Given the description of an element on the screen output the (x, y) to click on. 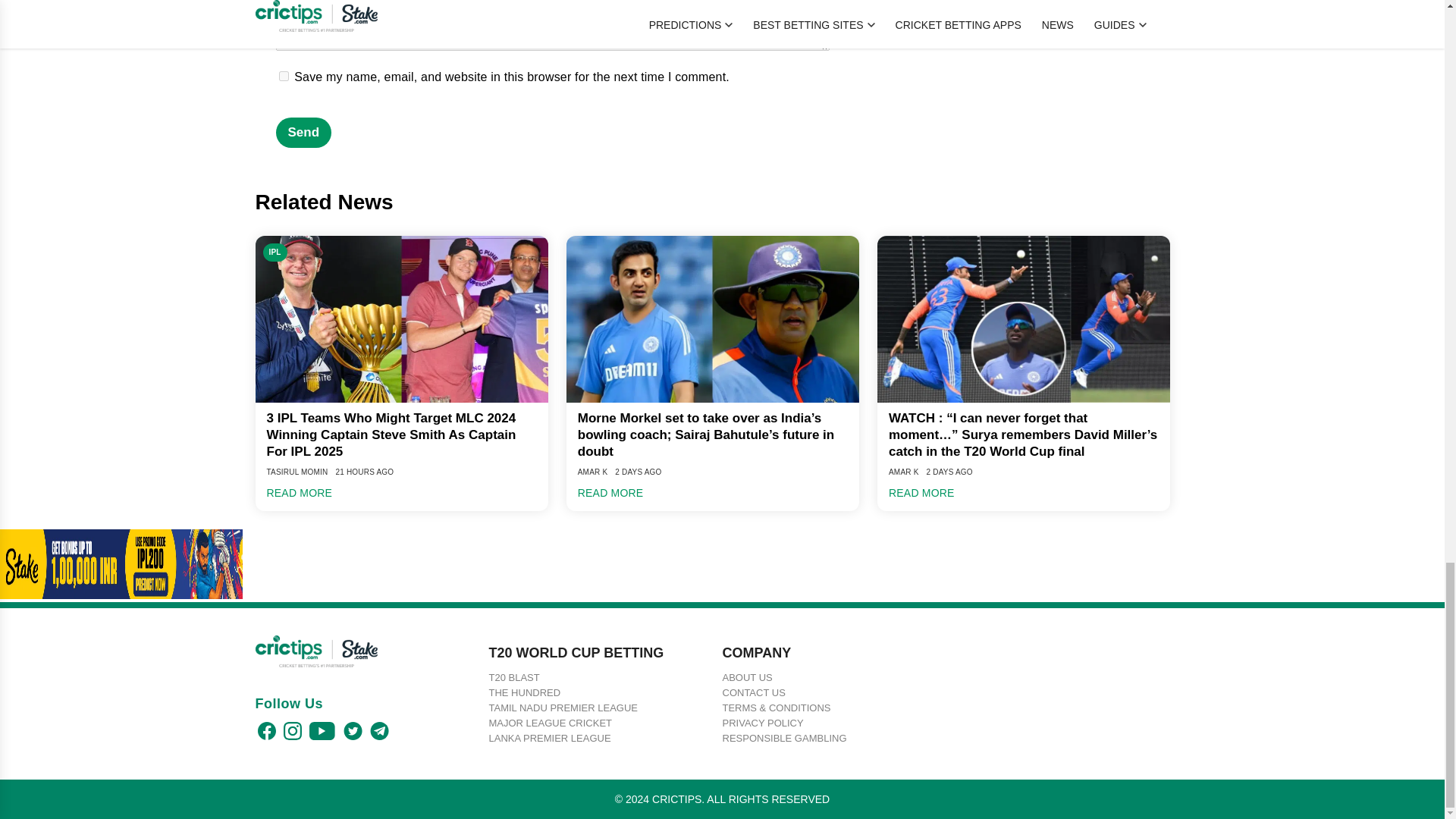
yes (283, 76)
Send (303, 132)
